Given the description of an element on the screen output the (x, y) to click on. 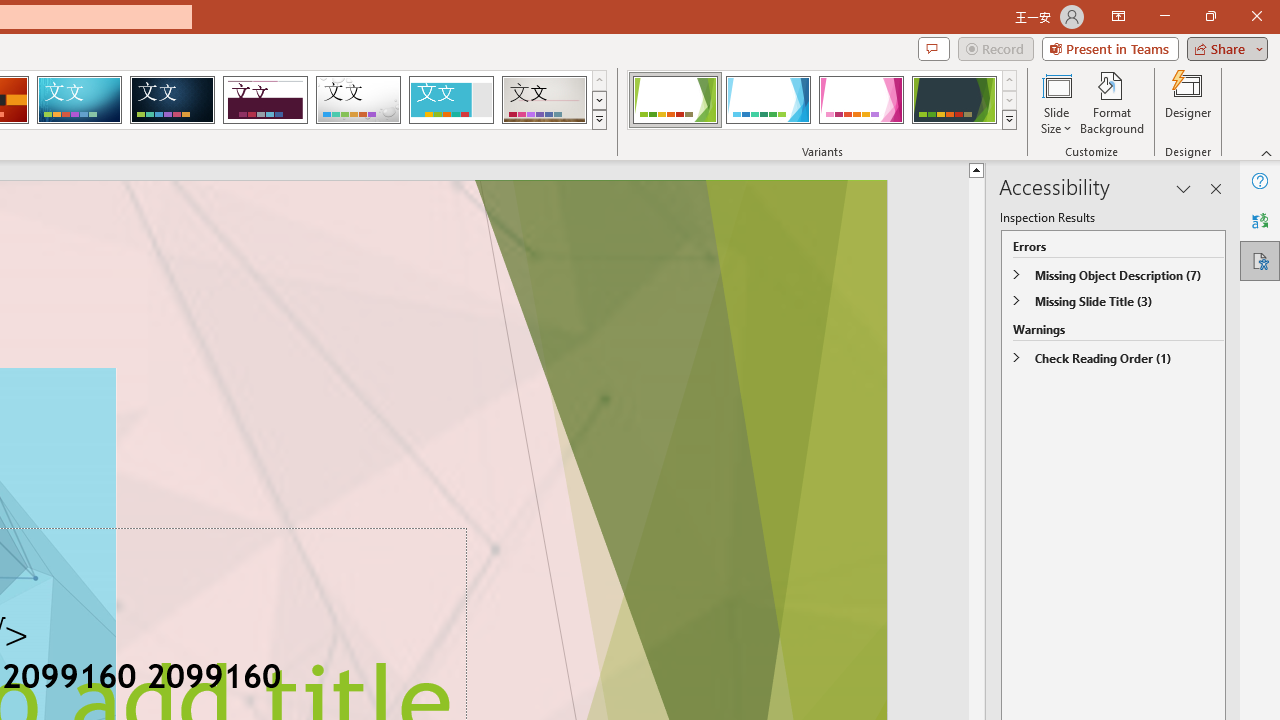
Droplet (358, 100)
Circuit (79, 100)
